Given the description of an element on the screen output the (x, y) to click on. 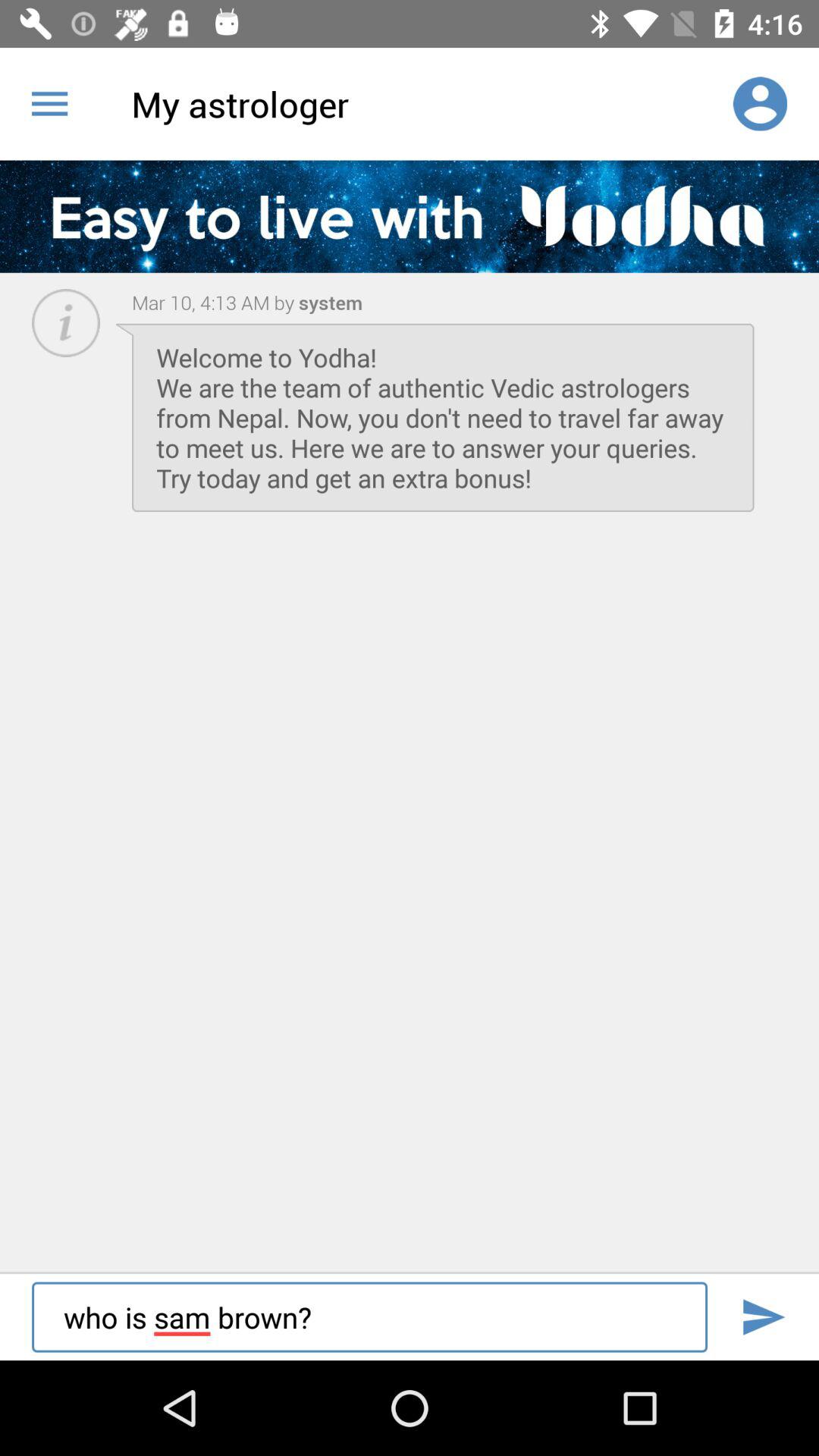
press icon next to the who is sam icon (763, 1317)
